Given the description of an element on the screen output the (x, y) to click on. 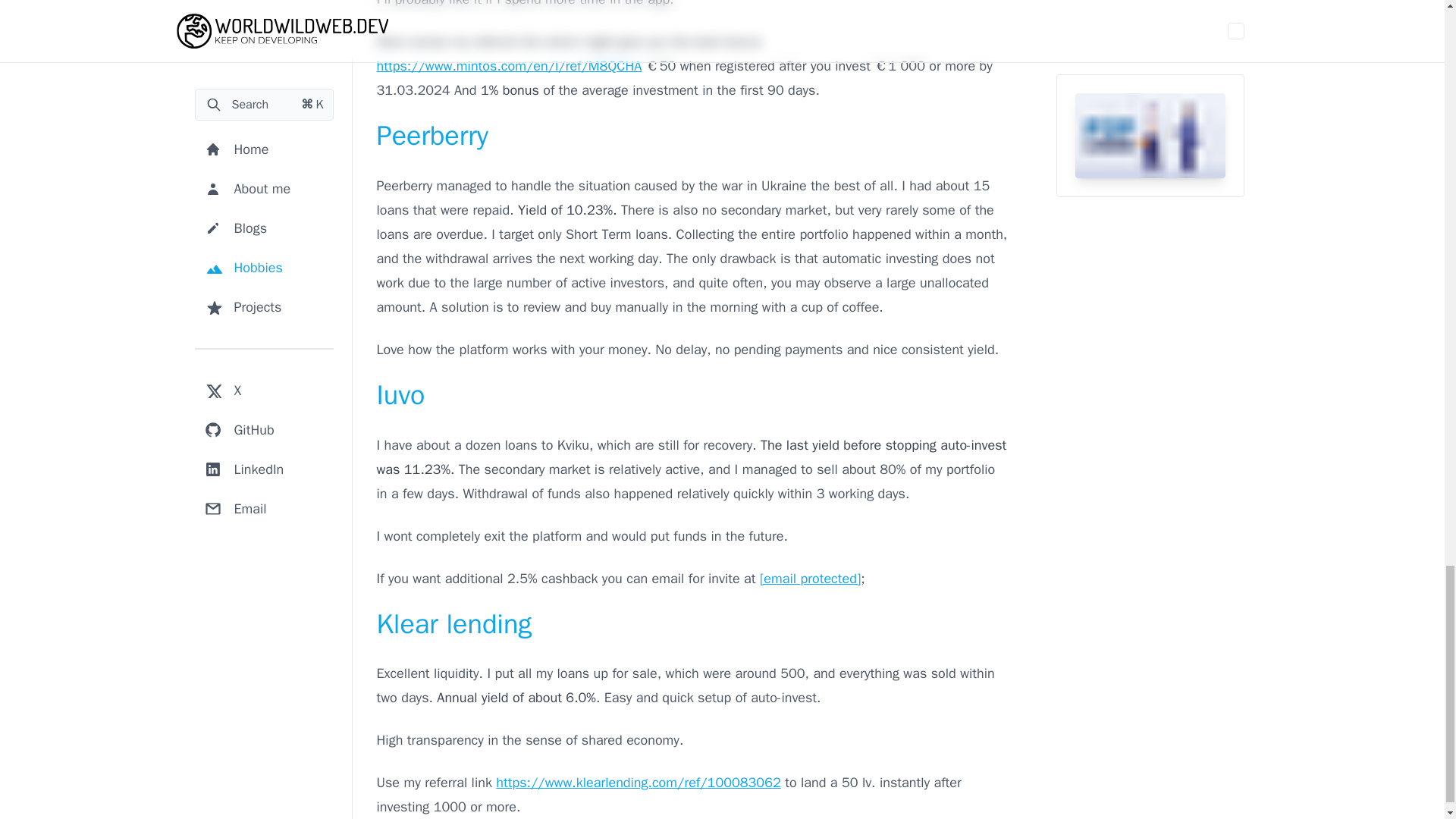
Peerberry (431, 135)
Klear lending (453, 623)
Iuvo (400, 394)
